Given the description of an element on the screen output the (x, y) to click on. 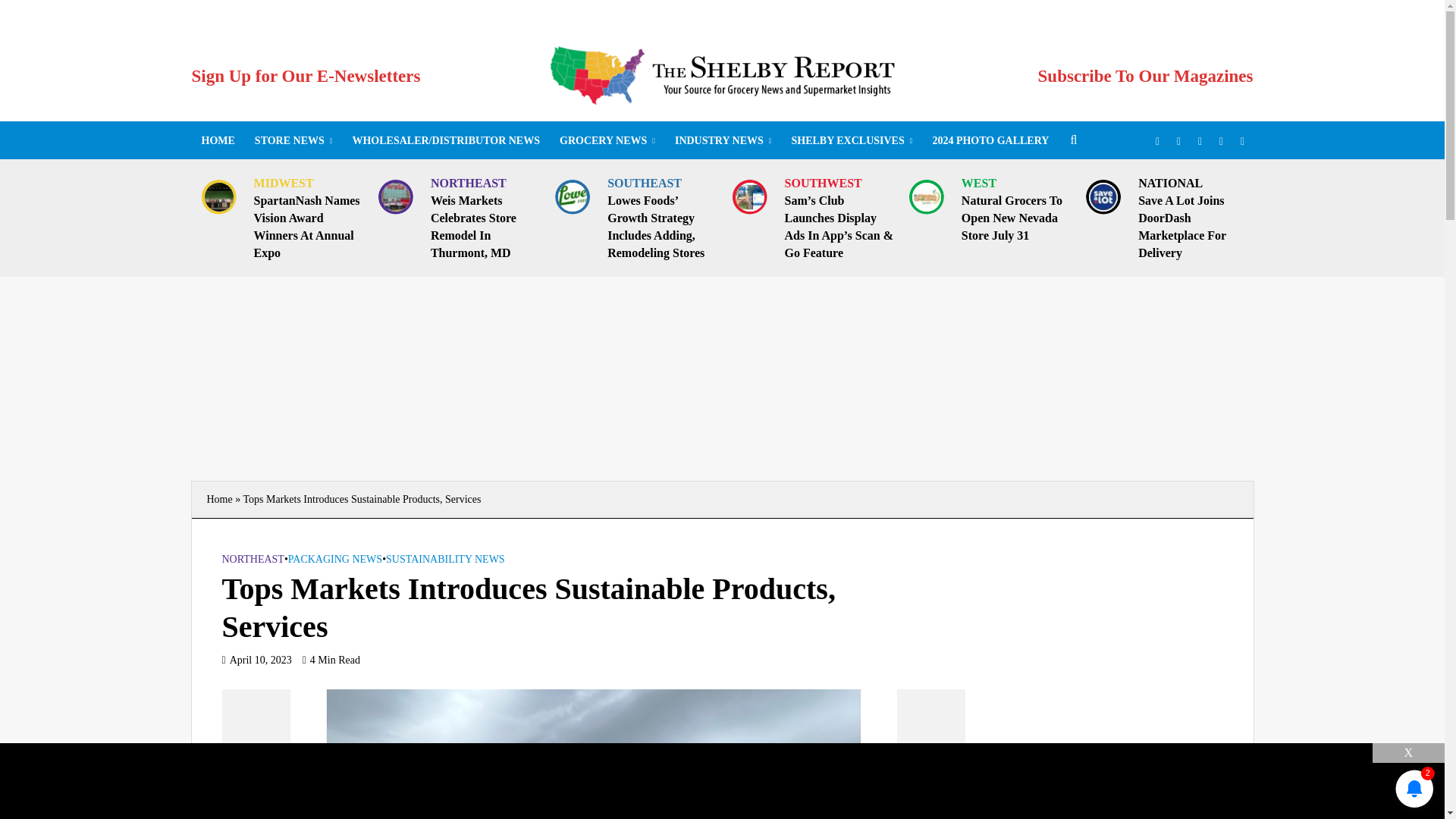
SHELBY EXCLUSIVES (850, 140)
STORE NEWS (293, 140)
HOME (217, 140)
3rd party ad content (721, 776)
INDUSTRY NEWS (723, 140)
Sign Up for Our E-Newsletters (305, 76)
Subscribe To Our Magazines (1145, 76)
GROCERY NEWS (607, 140)
